Given the description of an element on the screen output the (x, y) to click on. 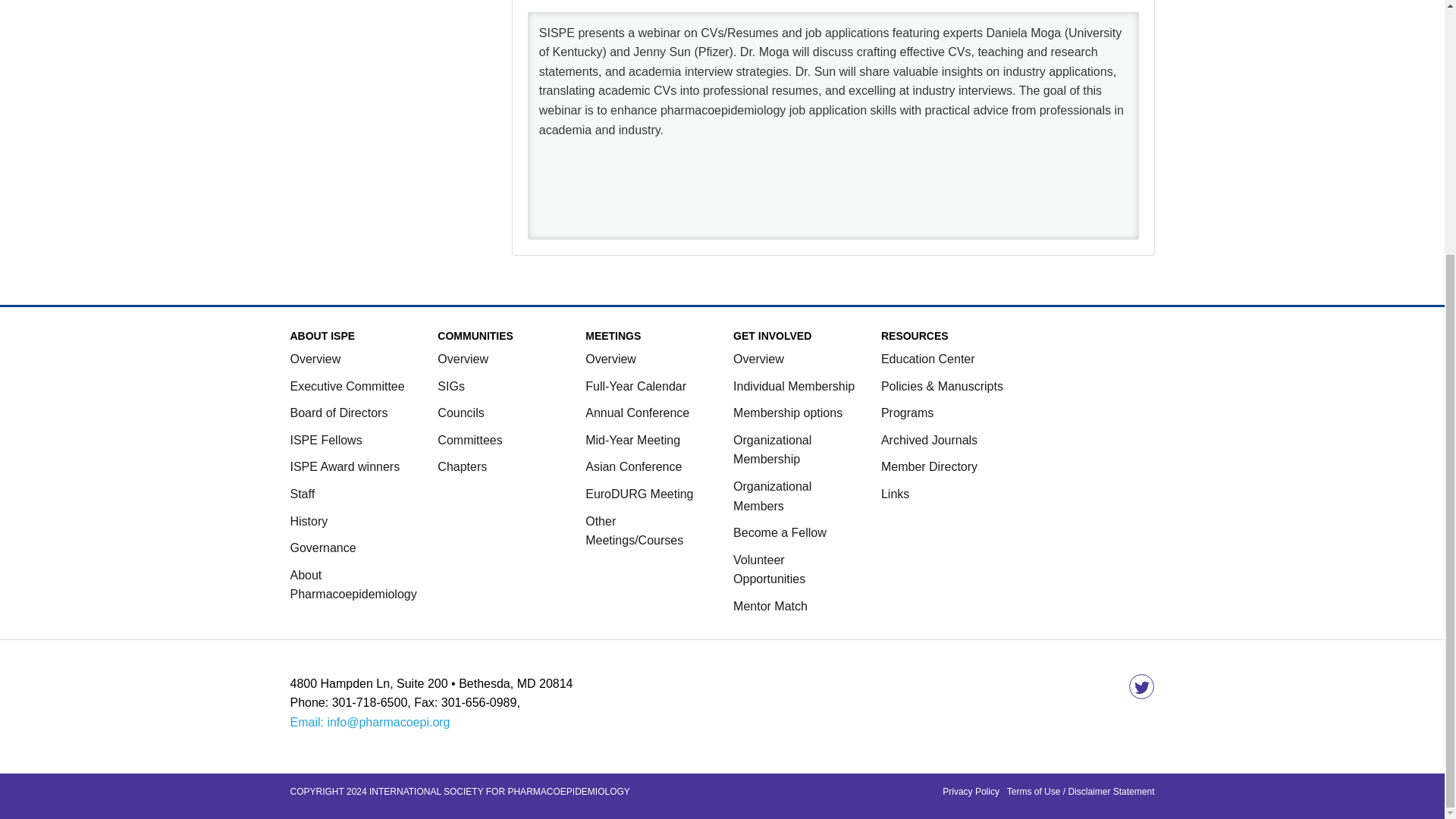
ISPE Award winners (343, 466)
Staff (301, 493)
Governance (322, 547)
Executive Committee (346, 386)
Overview (462, 358)
Overview (610, 358)
Full-Year Calendar (635, 386)
Board of Directors (338, 412)
Chapters (462, 466)
SIGs (451, 386)
